Given the description of an element on the screen output the (x, y) to click on. 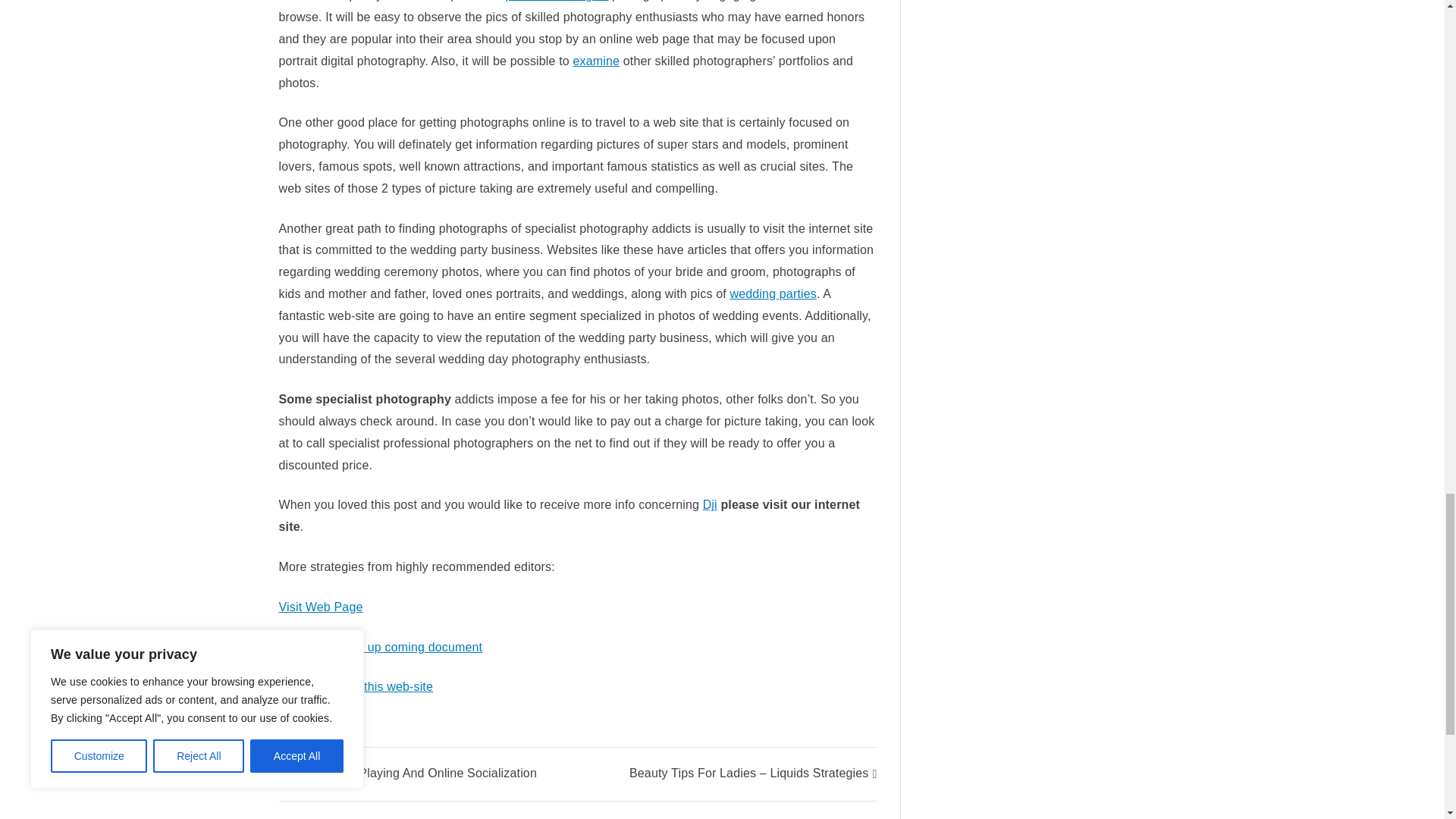
professional digital (556, 0)
browse around this web-site (356, 686)
Visit Web Page (320, 606)
mouse click the up coming document (381, 646)
Dji (710, 504)
wedding parties (772, 293)
examine (596, 60)
Video Game Playing And Online Socialization (408, 772)
